Given the description of an element on the screen output the (x, y) to click on. 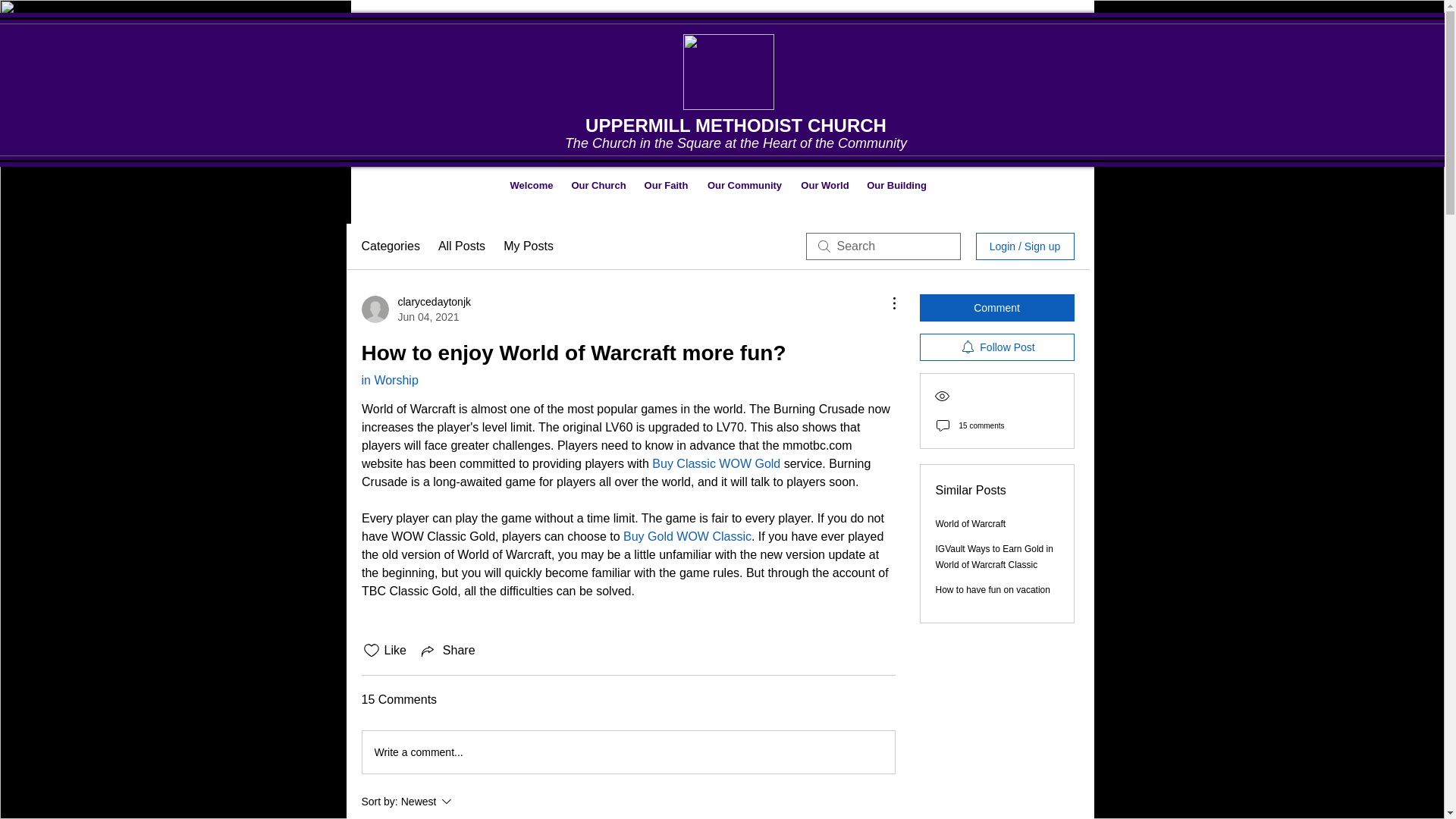
Our Church (598, 185)
Share (447, 650)
Write a comment... (628, 752)
My Posts (467, 801)
Our World (528, 246)
Buy Classic WOW Gold (824, 185)
Buy Gold WOW Classic (716, 463)
Our Faith (415, 309)
